Given the description of an element on the screen output the (x, y) to click on. 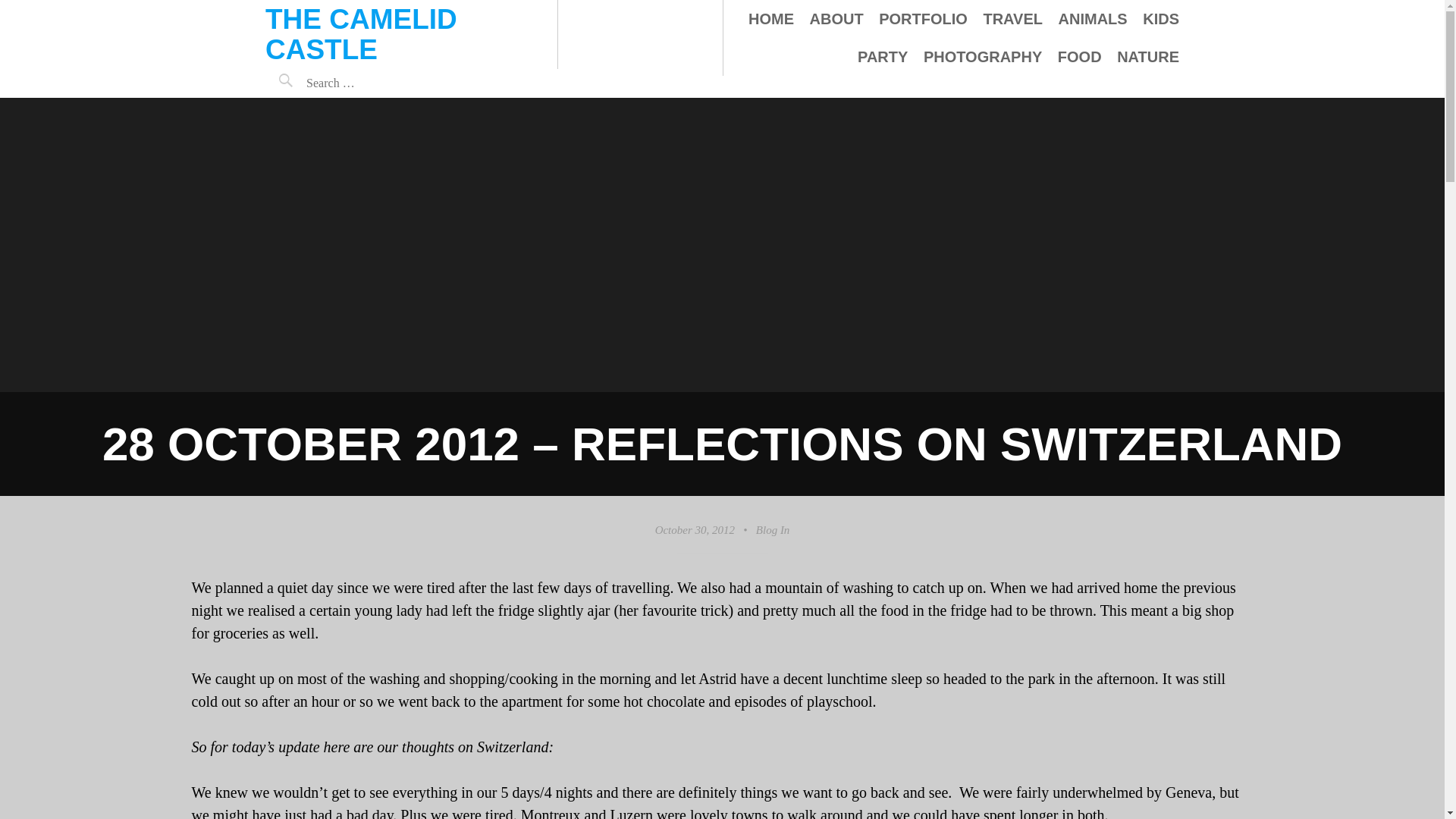
THE CAMELID CASTLE (360, 34)
PORTFOLIO (923, 18)
HOME (770, 18)
TRAVEL (1012, 18)
ABOUT (836, 18)
